Given the description of an element on the screen output the (x, y) to click on. 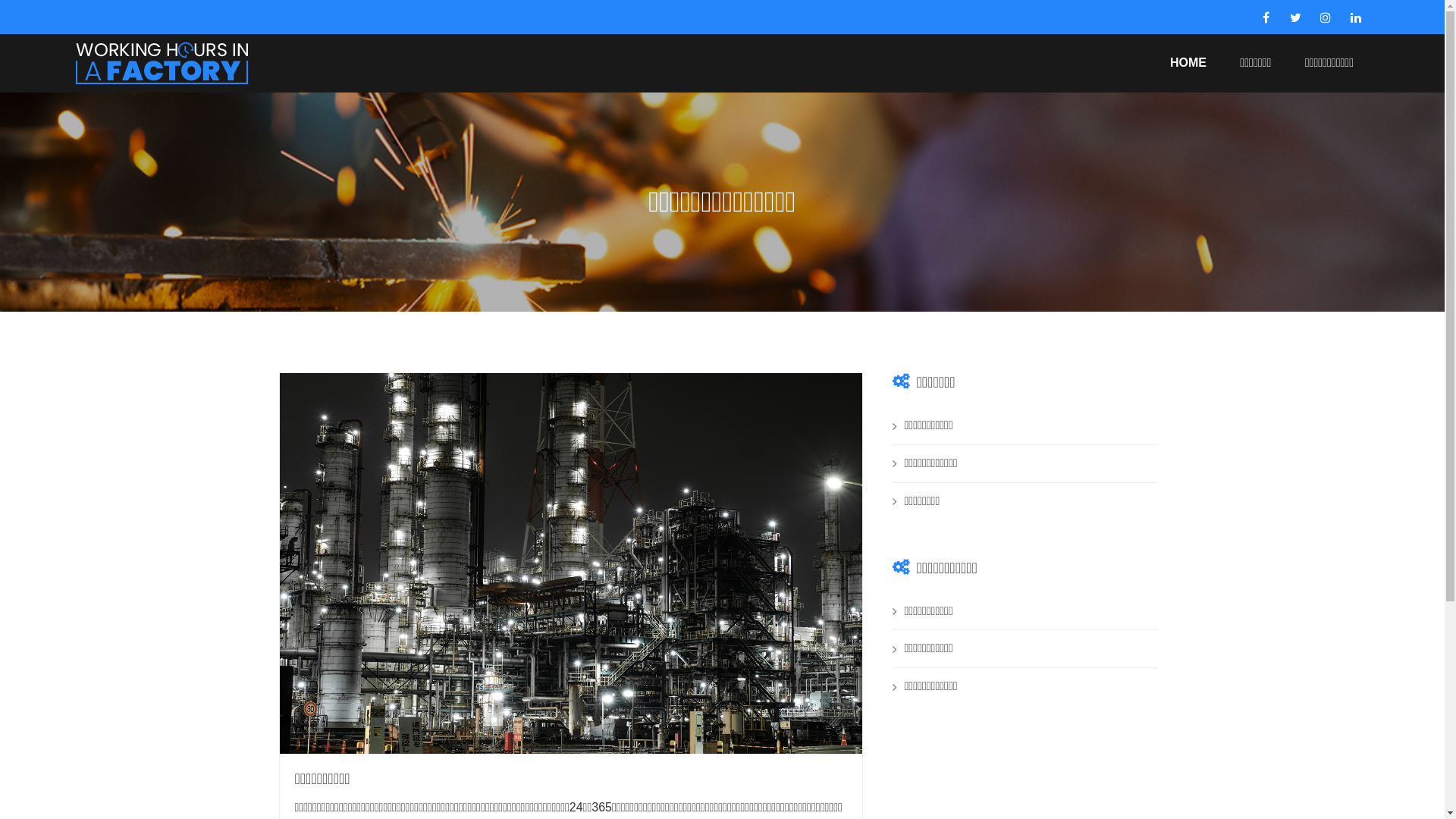
HOME Element type: text (1188, 62)
